Given the description of an element on the screen output the (x, y) to click on. 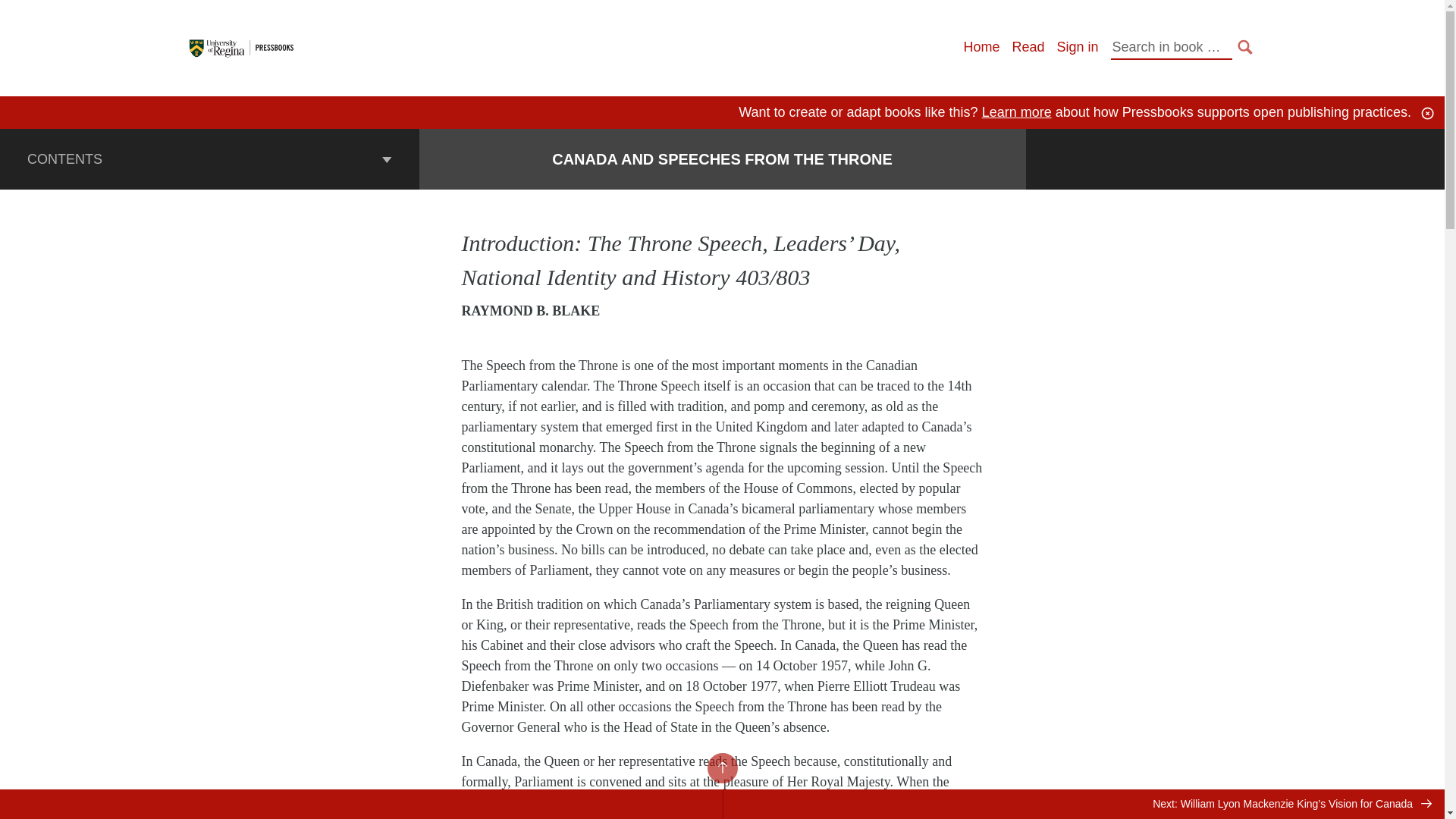
Read (1027, 46)
Sign in (1077, 46)
CANADA AND SPEECHES FROM THE THRONE (721, 159)
BACK TO TOP (721, 767)
Home (980, 46)
Learn more (1016, 111)
CONTENTS (209, 158)
